Given the description of an element on the screen output the (x, y) to click on. 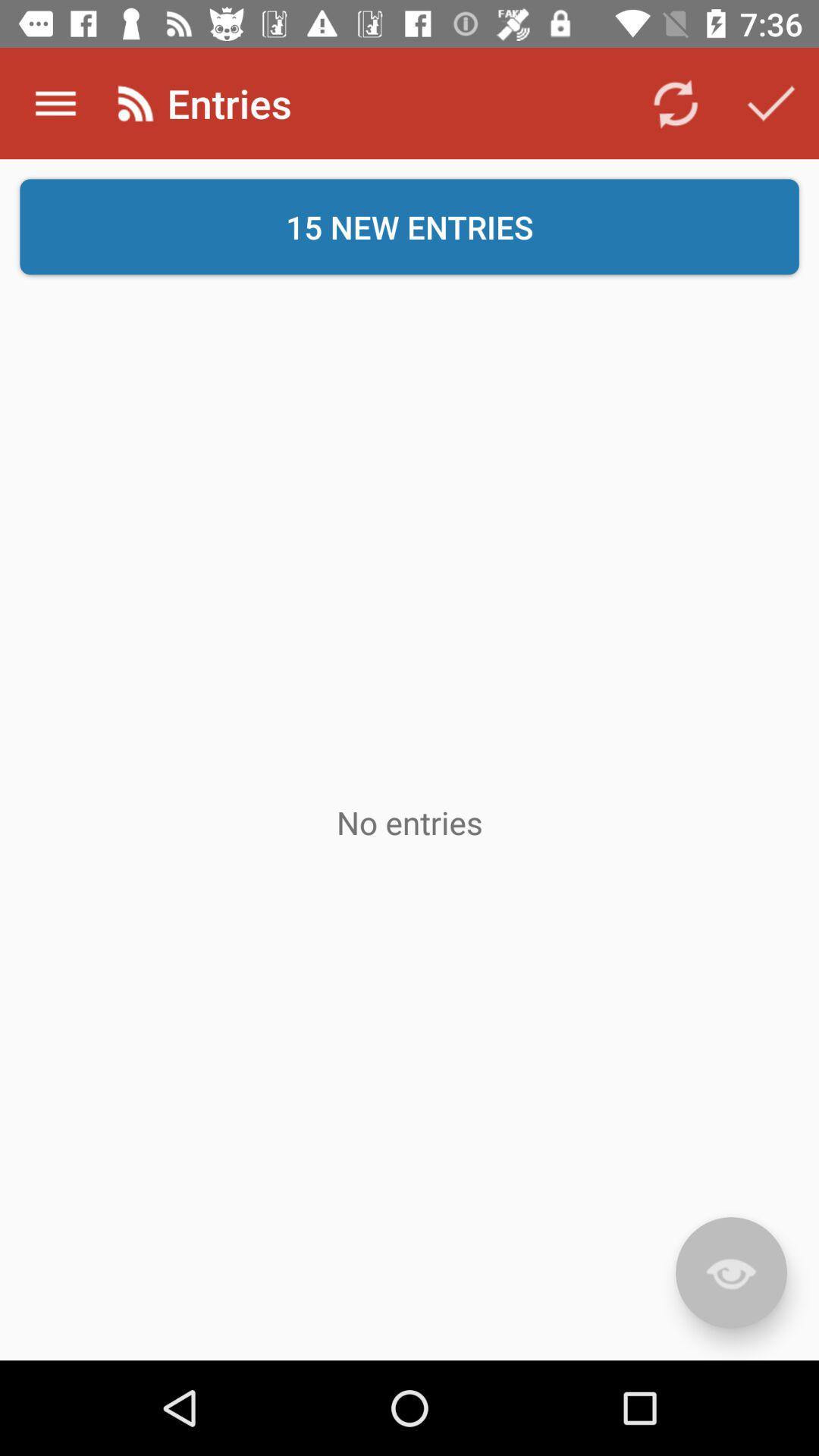
launch the item above no entries (409, 226)
